Given the description of an element on the screen output the (x, y) to click on. 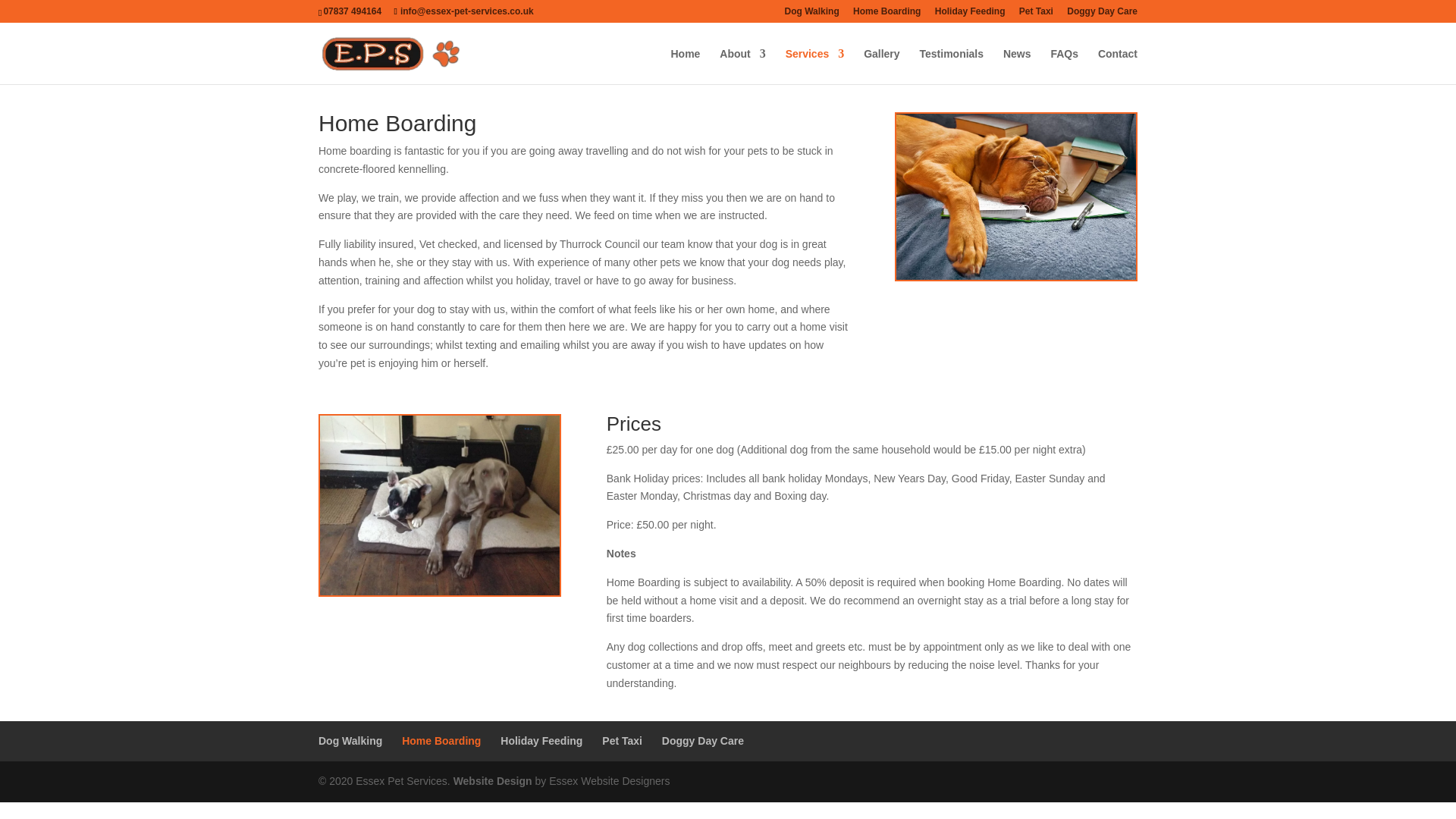
Home Boarding (886, 14)
Services (815, 66)
Testimonials (951, 66)
About (742, 66)
07837 494164 (352, 10)
Holiday Feeding (970, 14)
Doggy Day Care (1102, 14)
Pet Taxi (1035, 14)
Gallery (881, 66)
Dog Walking (812, 14)
